Given the description of an element on the screen output the (x, y) to click on. 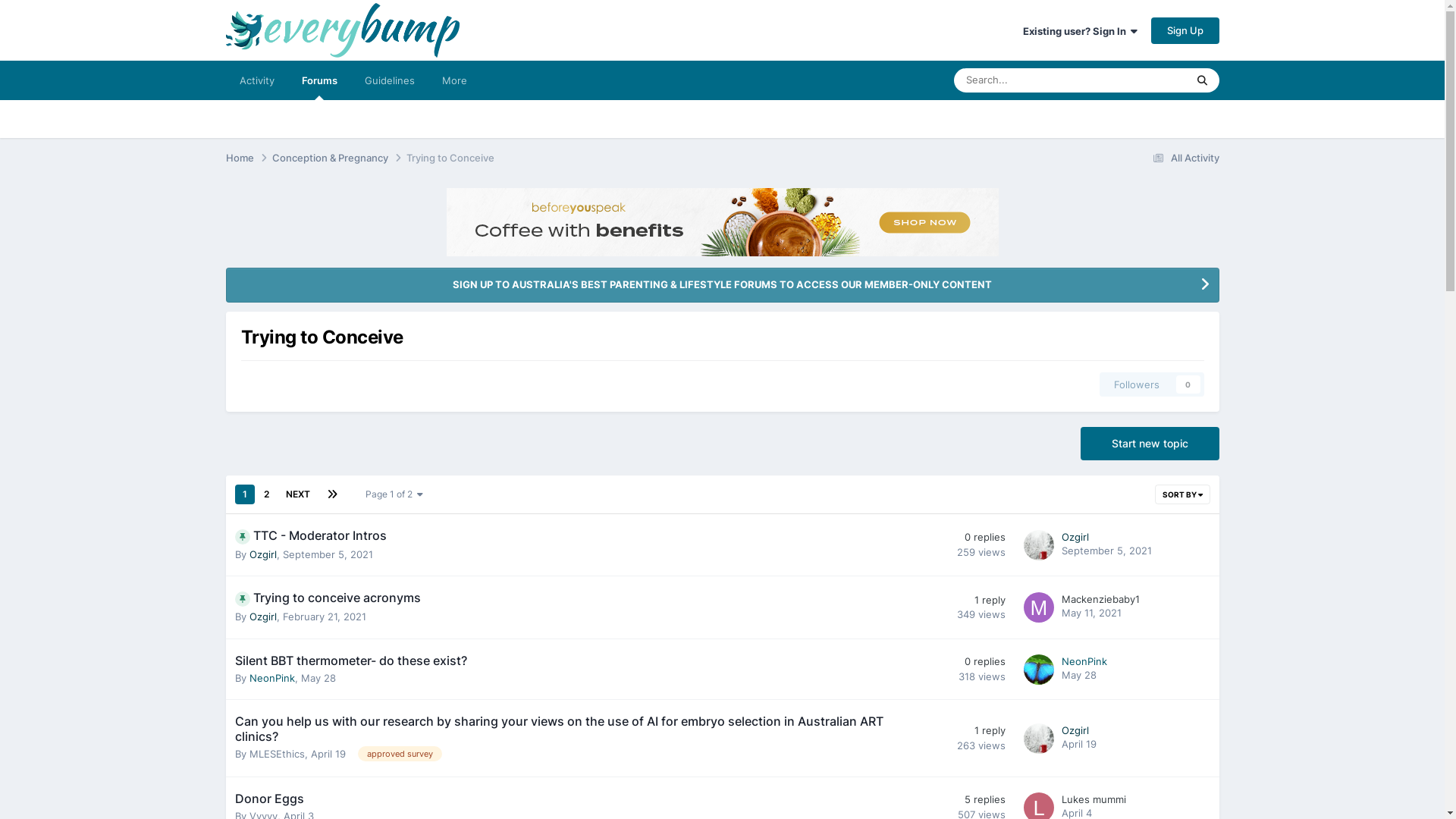
Activity Element type: text (256, 80)
Start new topic Element type: text (1148, 443)
Last page Element type: hover (331, 494)
May 11, 2021 Element type: text (1091, 612)
September 5, 2021 Element type: text (1106, 550)
Page 1 of 2   Element type: text (393, 494)
Followers
0 Element type: text (1151, 384)
Silent BBT thermometer- do these exist? Element type: text (351, 660)
2 Element type: text (266, 494)
More Element type: text (453, 80)
Pinned Element type: hover (242, 536)
SORT BY Element type: text (1181, 494)
1 Element type: text (244, 494)
TTC - Moderator Intros Element type: text (319, 534)
April 19 Element type: text (1078, 743)
Existing user? Sign In   Element type: text (1079, 31)
Sign Up Element type: text (1185, 29)
Forums Element type: text (319, 80)
NEXT Element type: text (296, 494)
Guidelines Element type: text (388, 80)
All Activity Element type: text (1183, 157)
approved survey Element type: text (399, 753)
Pinned Element type: hover (242, 598)
Trying to conceive acronyms Element type: text (336, 597)
May 28 Element type: text (1078, 674)
Home Element type: text (248, 158)
Conception & Pregnancy Element type: text (338, 158)
Donor Eggs Element type: text (269, 798)
